Given the description of an element on the screen output the (x, y) to click on. 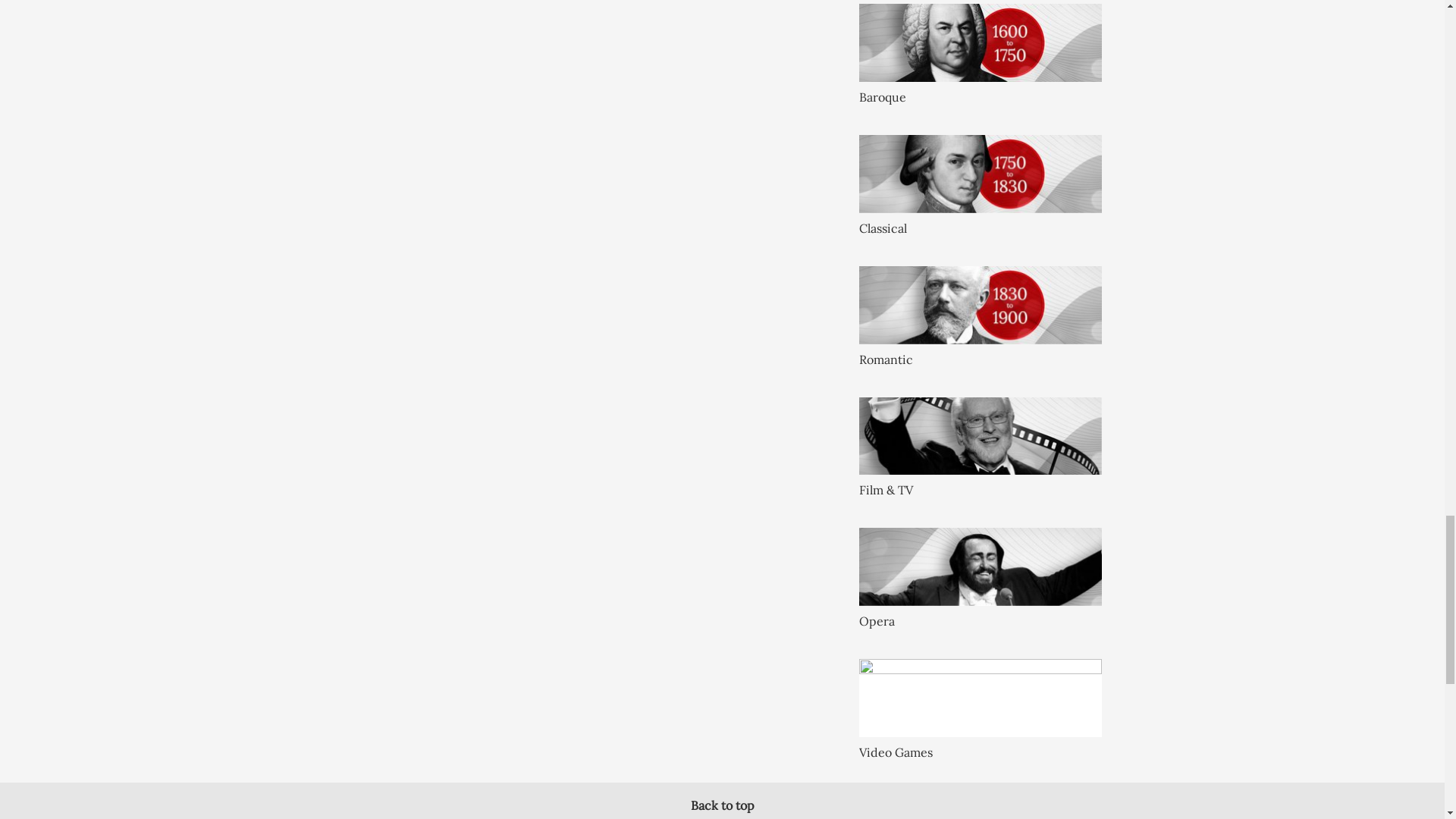
Back to top (722, 805)
